Given the description of an element on the screen output the (x, y) to click on. 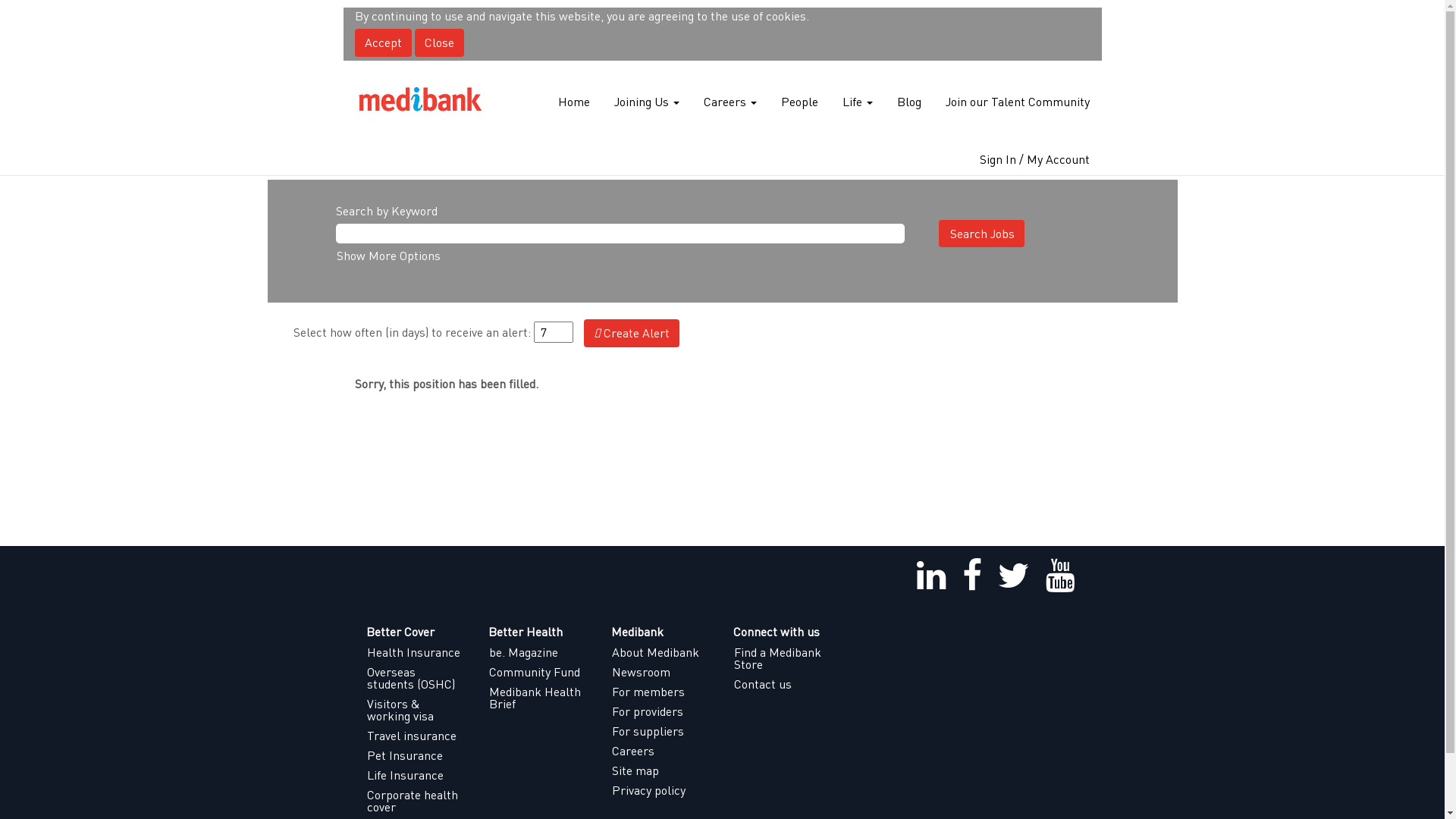
Careers Element type: text (661, 750)
Medibank Health Brief Element type: text (538, 697)
Site map Element type: text (661, 770)
Find a Medibank Store Element type: text (783, 658)
Join our Talent Community Element type: text (1017, 101)
Travel insurance Element type: text (415, 735)
Home Element type: text (572, 101)
Blog Element type: text (909, 101)
Overseas students (OSHC) Element type: text (415, 677)
youtube Element type: hover (1060, 576)
Accept Element type: text (382, 42)
Pet Insurance Element type: text (415, 755)
For providers Element type: text (661, 711)
Medibank Careers Element type: hover (419, 101)
Privacy policy Element type: text (661, 790)
Sign In / My Account Element type: text (1033, 159)
twitter Element type: hover (1012, 576)
Newsroom Element type: text (661, 671)
For members Element type: text (661, 691)
linkedin Element type: hover (931, 576)
Health Insurance Element type: text (415, 651)
facebook Element type: hover (971, 576)
People Element type: text (798, 101)
Create Alert Element type: text (631, 333)
Search Jobs Element type: text (981, 233)
Close Element type: text (438, 42)
Show More Options Element type: text (387, 254)
For suppliers Element type: text (661, 730)
Contact us Element type: text (783, 683)
Life Insurance Element type: text (415, 774)
Joining Us Element type: text (645, 101)
About Medibank Element type: text (661, 651)
be. Magazine Element type: text (538, 651)
Corporate health cover Element type: text (415, 800)
Community Fund Element type: text (538, 671)
Life Element type: text (857, 101)
Visitors & working visa Element type: text (415, 709)
Careers Element type: text (729, 101)
